Given the description of an element on the screen output the (x, y) to click on. 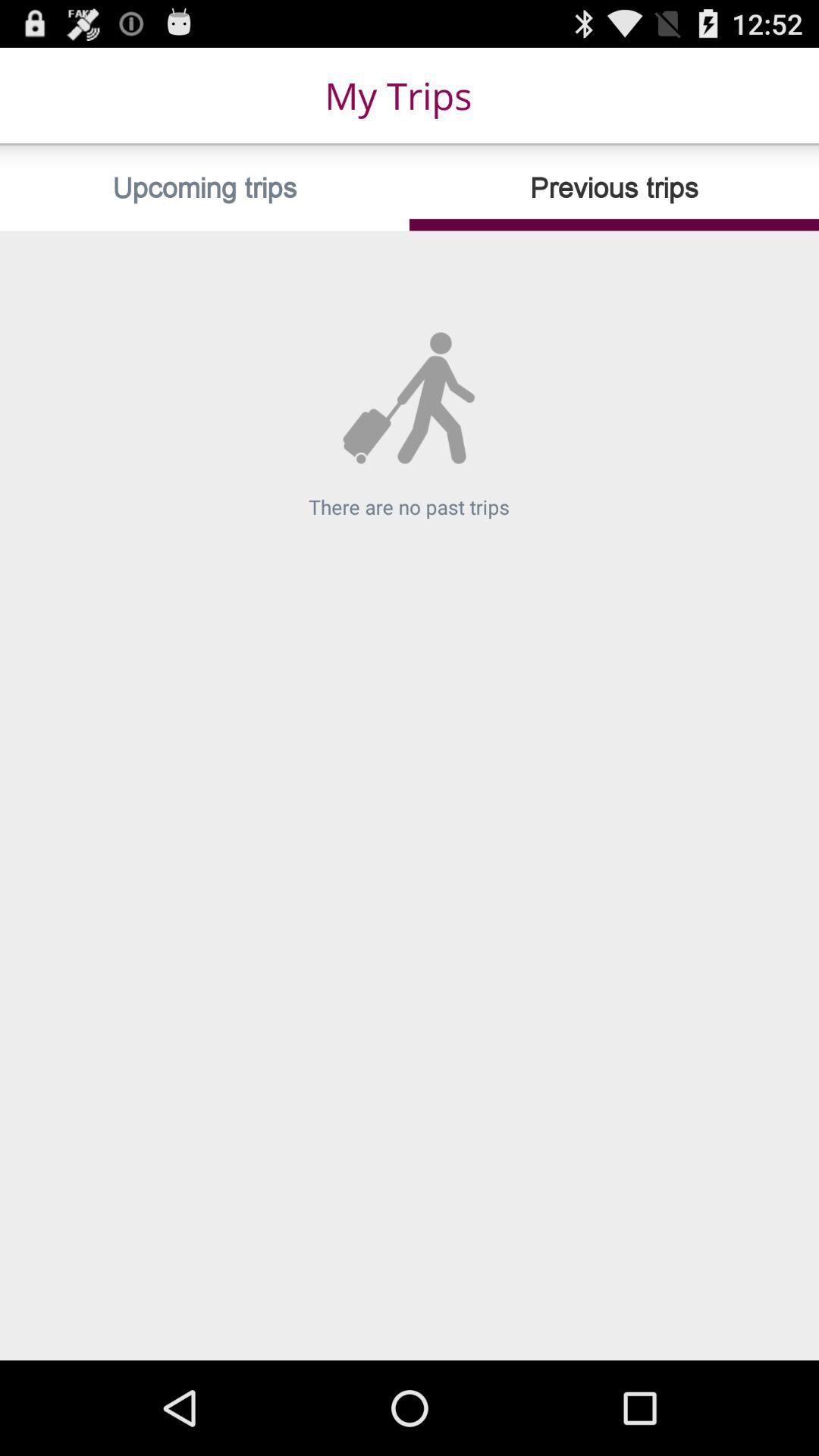
swipe until upcoming trips icon (204, 187)
